Given the description of an element on the screen output the (x, y) to click on. 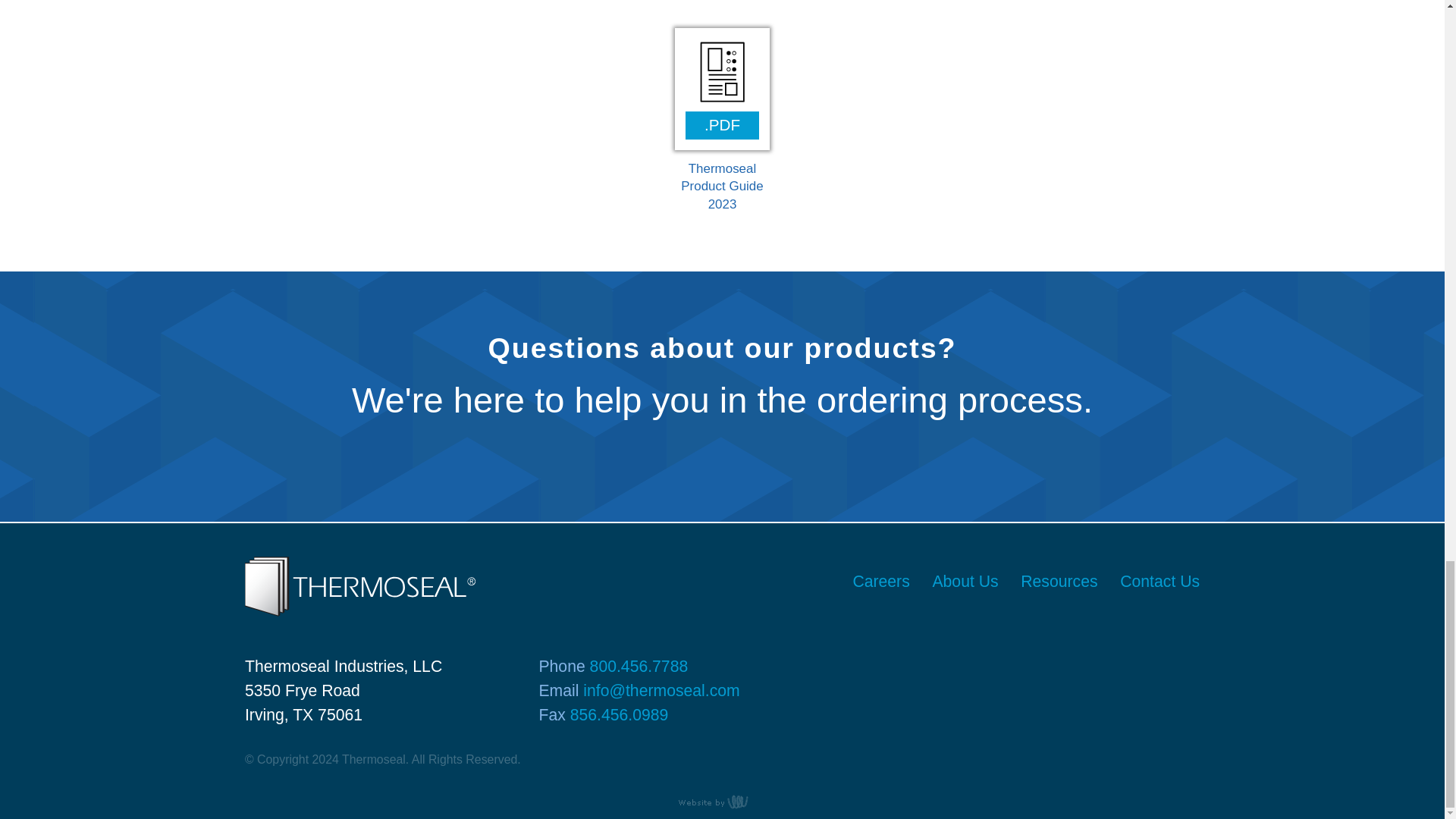
Resources (1058, 581)
About Us (965, 581)
Careers (881, 581)
800.456.7788 (638, 665)
Thermoseal (360, 610)
Contact Us (1153, 581)
